Given the description of an element on the screen output the (x, y) to click on. 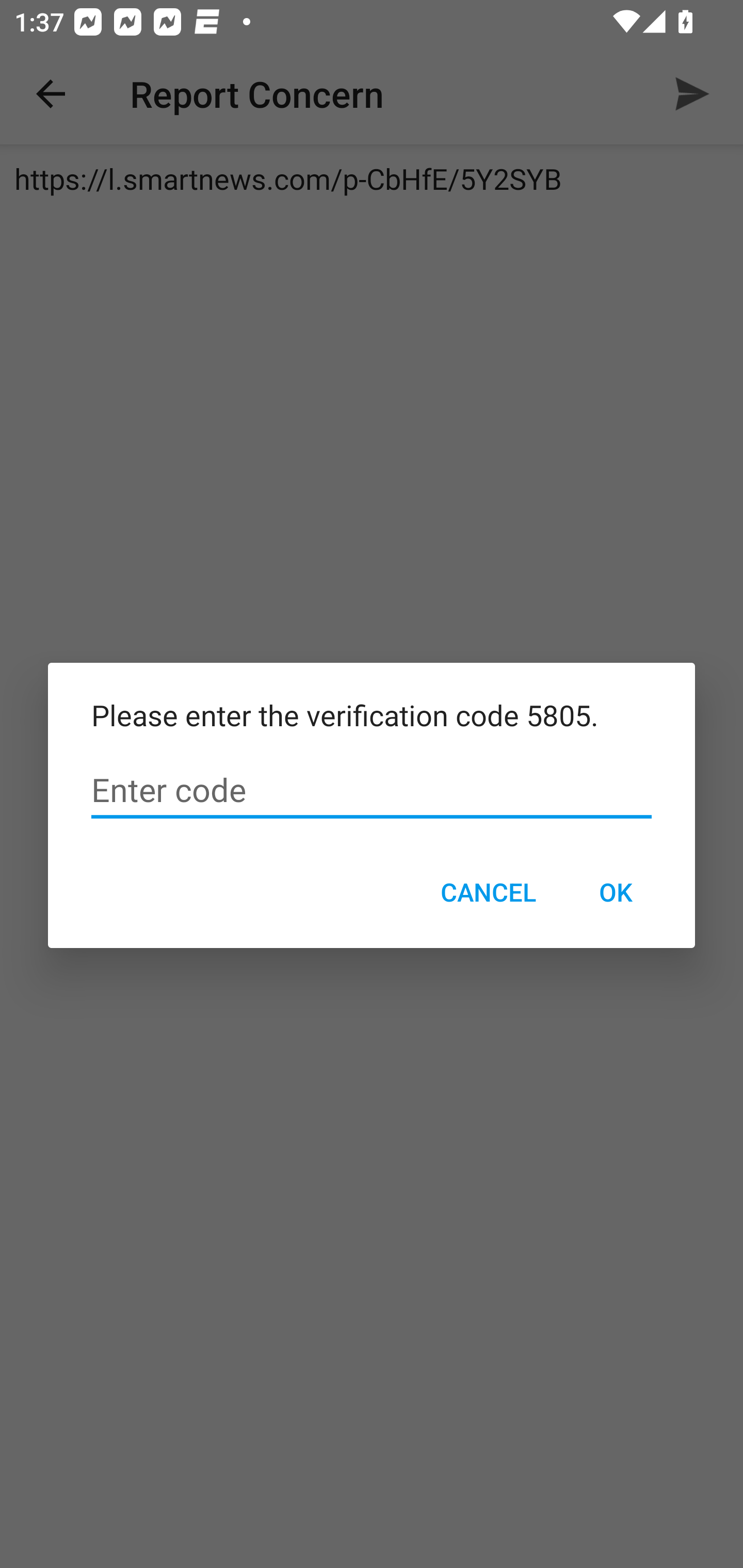
Enter code (371, 790)
CANCEL (488, 891)
OK (615, 891)
